Given the description of an element on the screen output the (x, y) to click on. 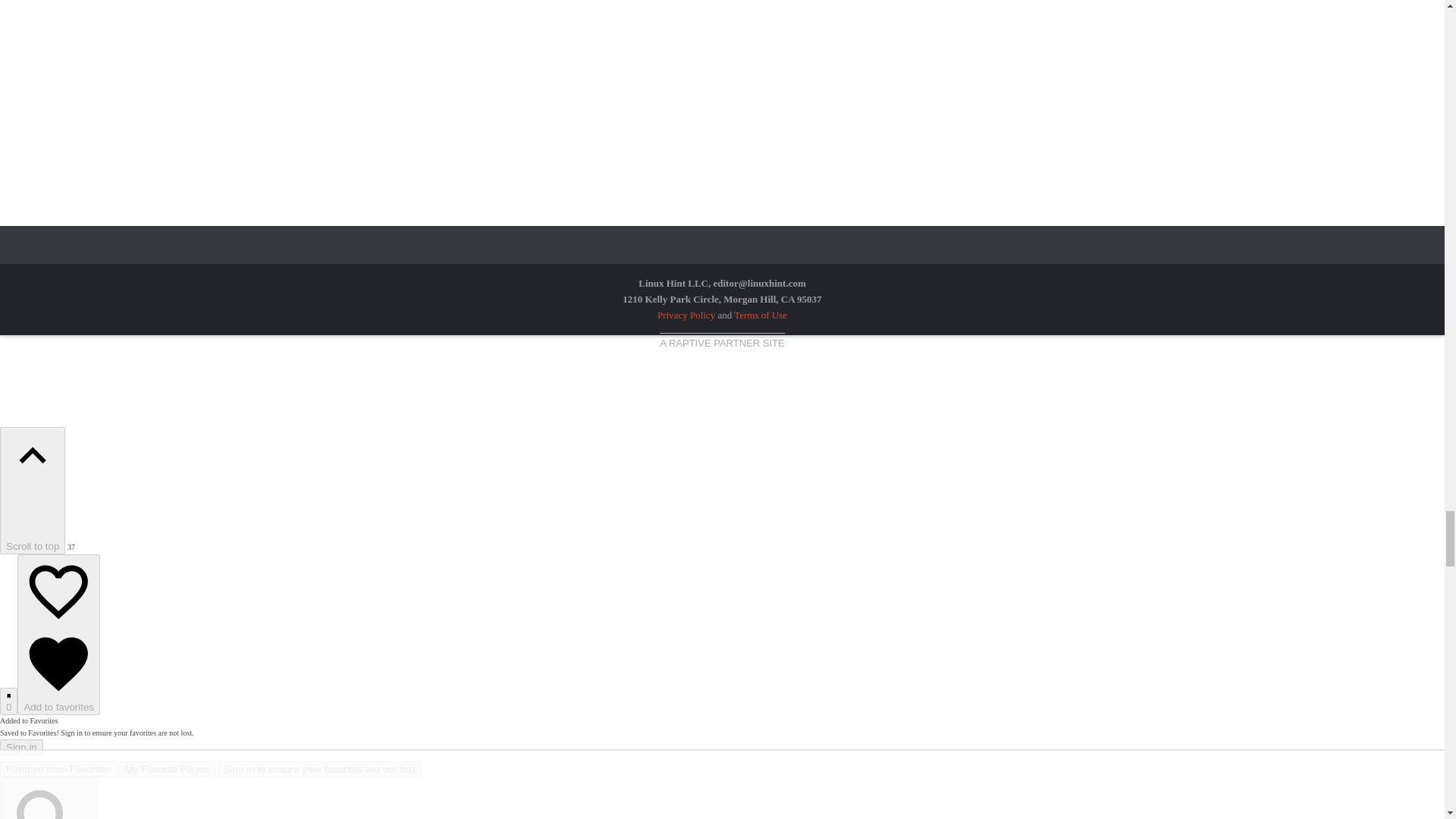
Privacy Policy (686, 315)
Terms of Use (760, 315)
